Given the description of an element on the screen output the (x, y) to click on. 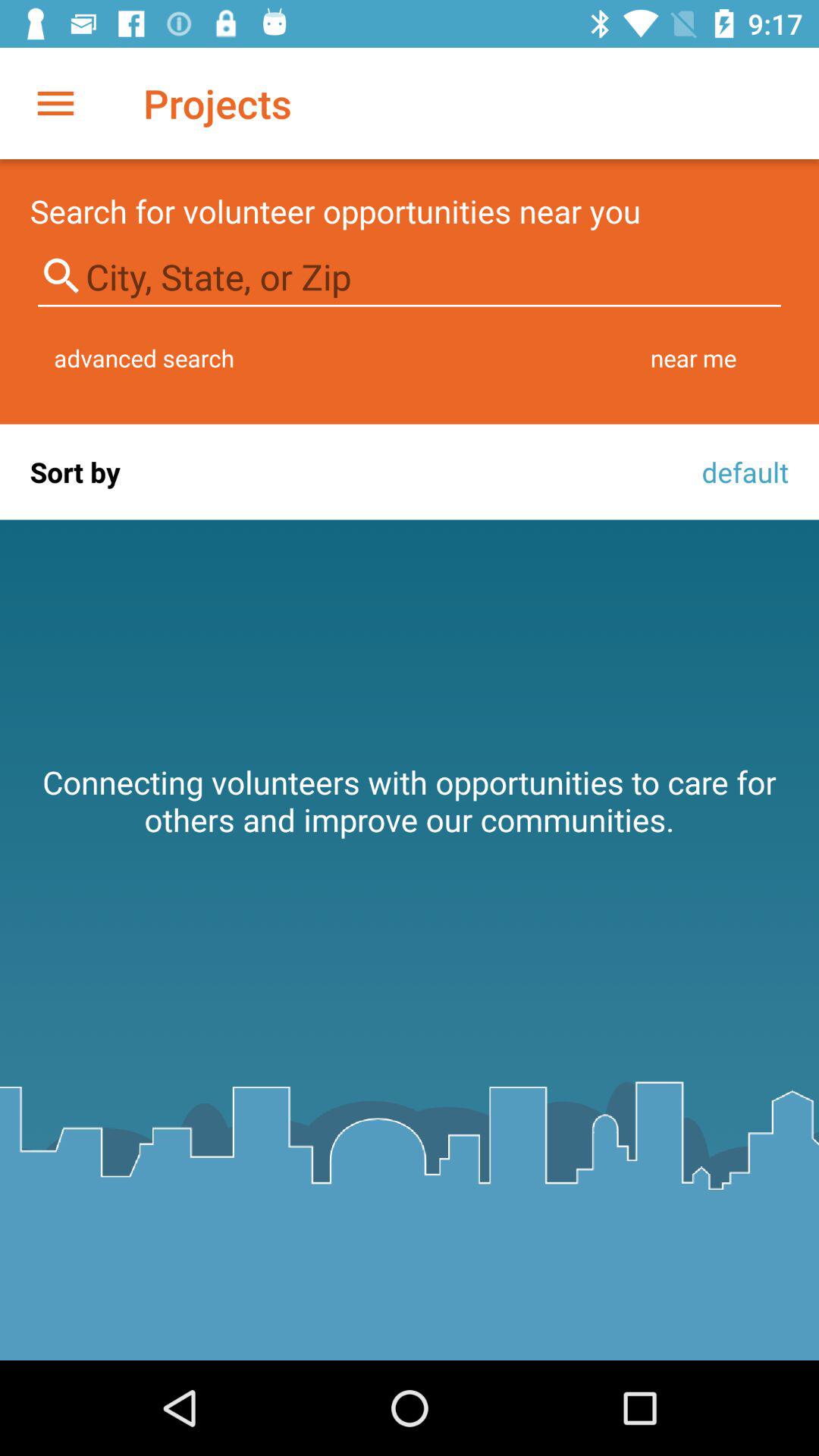
launch the default icon (740, 471)
